Given the description of an element on the screen output the (x, y) to click on. 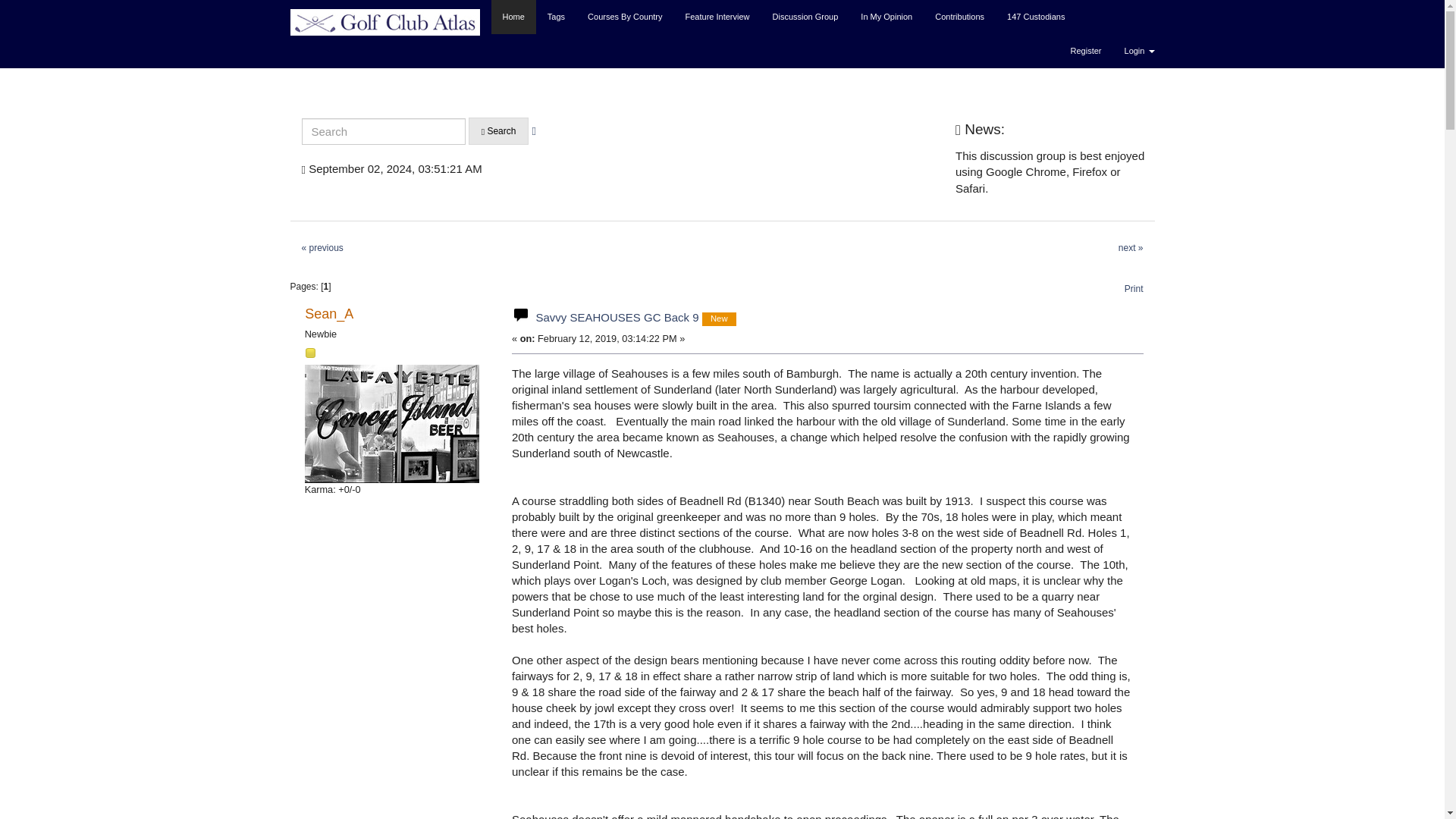
Login (1139, 50)
Discussion Group (805, 17)
147 Custodians (1035, 17)
Savvy SEAHOUSES GC Back 9 New (635, 317)
Register (1086, 50)
Tags (555, 17)
Search (498, 130)
In My Opinion (885, 17)
Contributions (959, 17)
Courses By Country (624, 17)
